Given the description of an element on the screen output the (x, y) to click on. 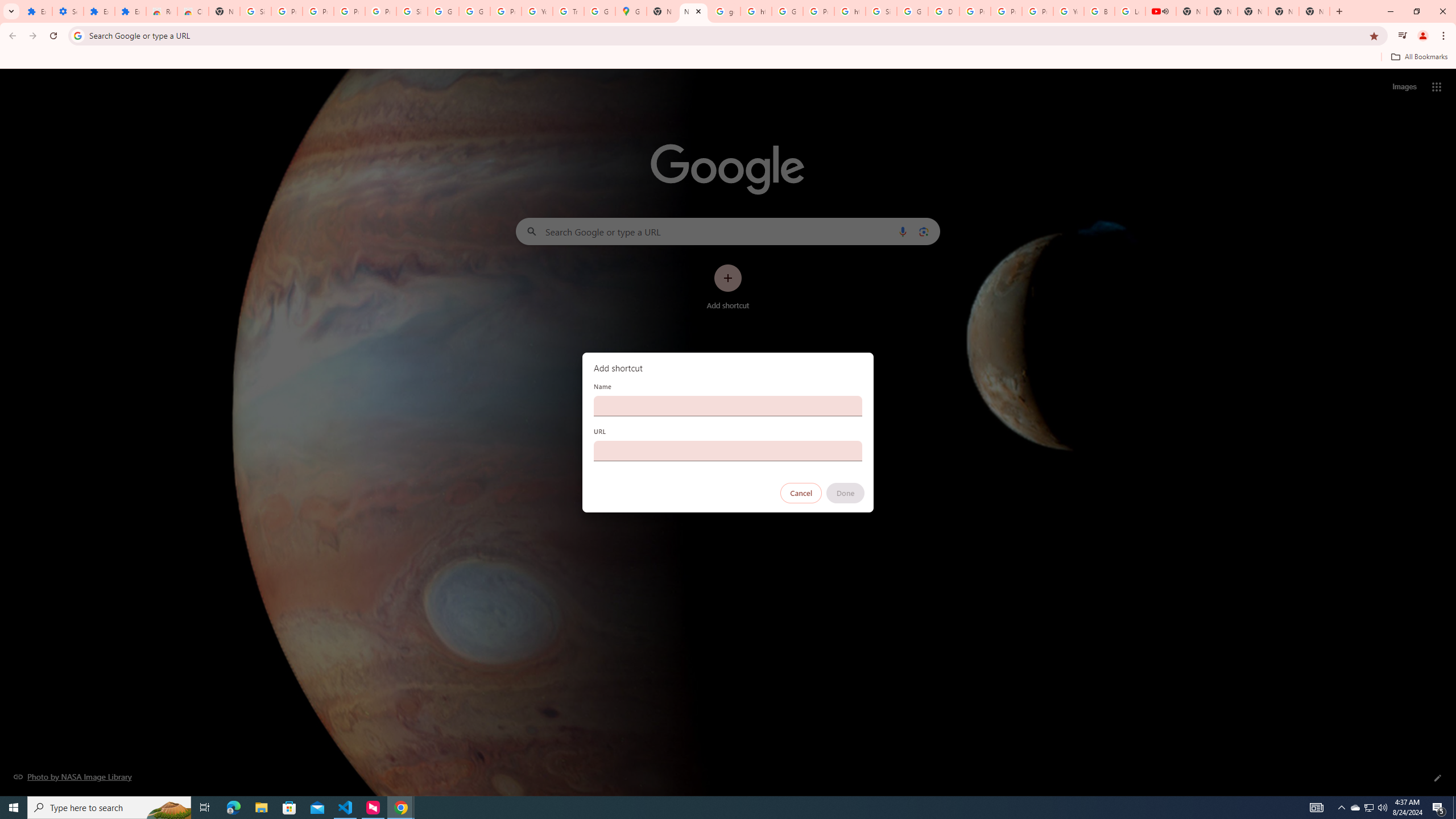
Google Maps (631, 11)
https://scholar.google.com/ (849, 11)
YouTube (536, 11)
New Tab (1314, 11)
Extensions (130, 11)
New Tab (223, 11)
Name (727, 405)
